Given the description of an element on the screen output the (x, y) to click on. 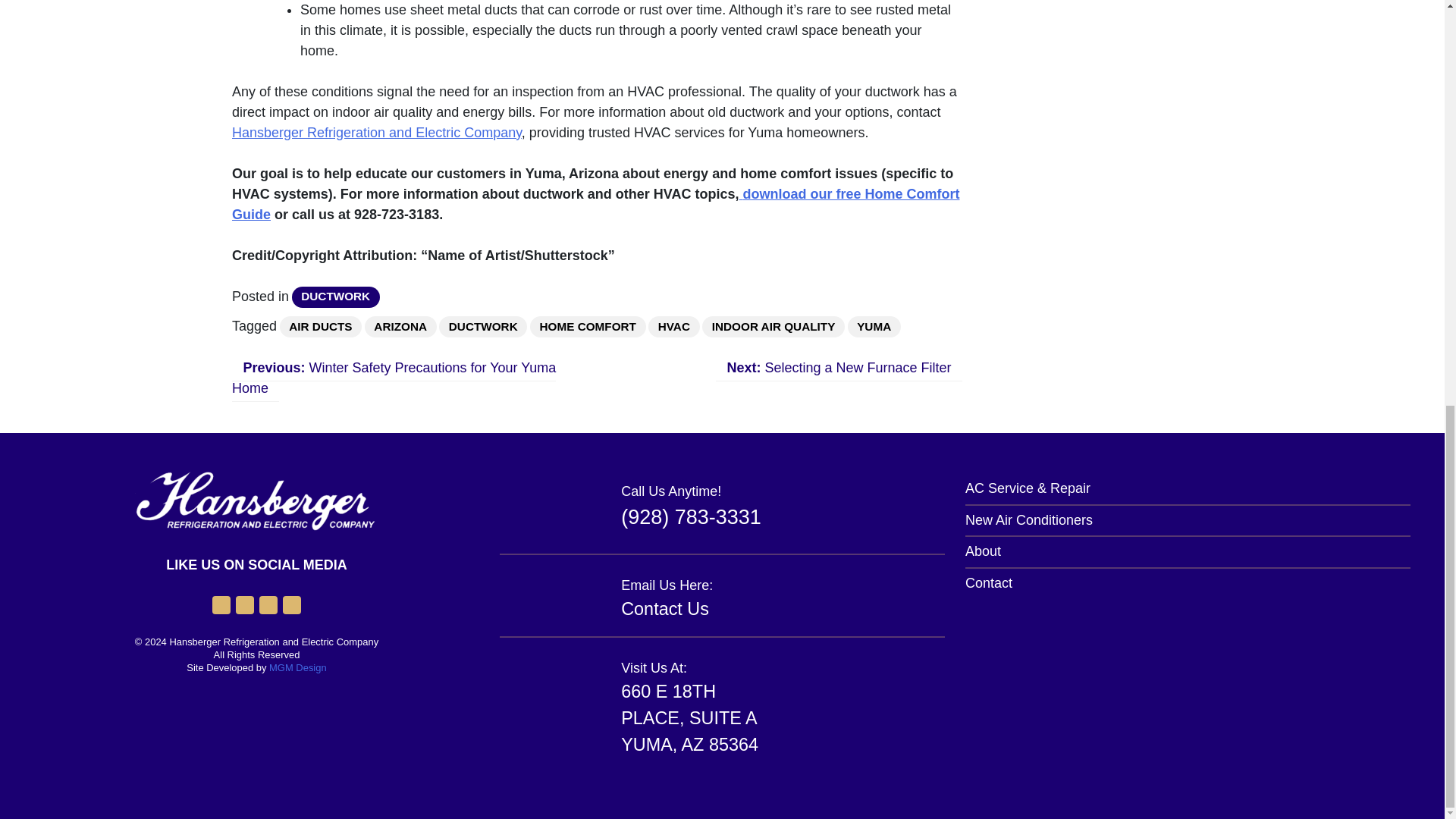
Hansberger Refrigeration and Electric Company (376, 132)
HOME COMFORT (587, 326)
DUCTWORK (483, 326)
HVAC (672, 326)
INDOOR AIR QUALITY (772, 326)
Next: Selecting a New Furnace Filter (839, 367)
YUMA (874, 326)
AIR DUCTS (320, 326)
download our free Home Comfort Guide (595, 203)
Previous: Winter Safety Precautions for Your Yuma Home (393, 378)
DUCTWORK (336, 296)
ARIZONA (400, 326)
